Given the description of an element on the screen output the (x, y) to click on. 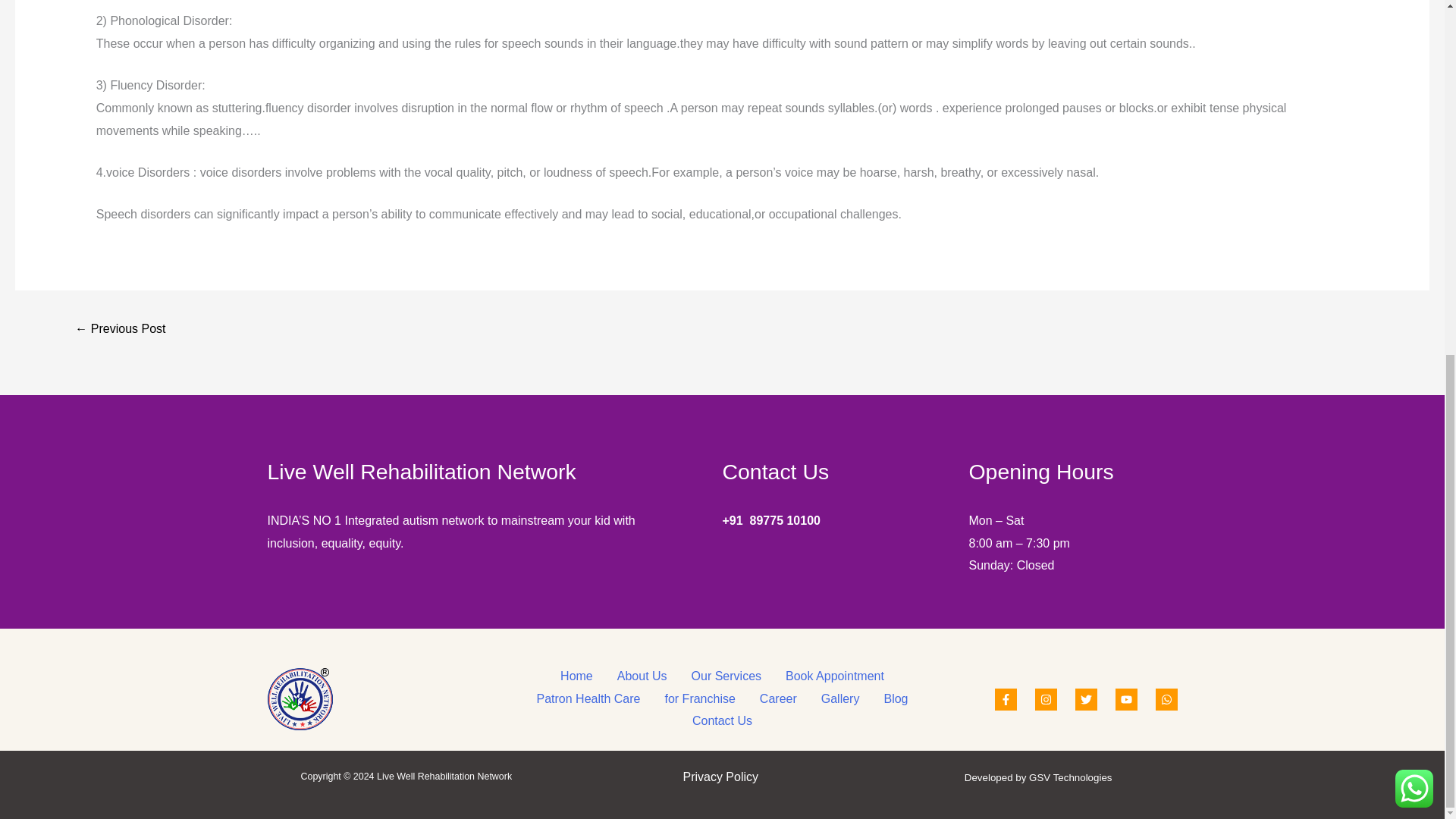
HOME PARENTING FOR AUTISM KIDS (119, 329)
